Given the description of an element on the screen output the (x, y) to click on. 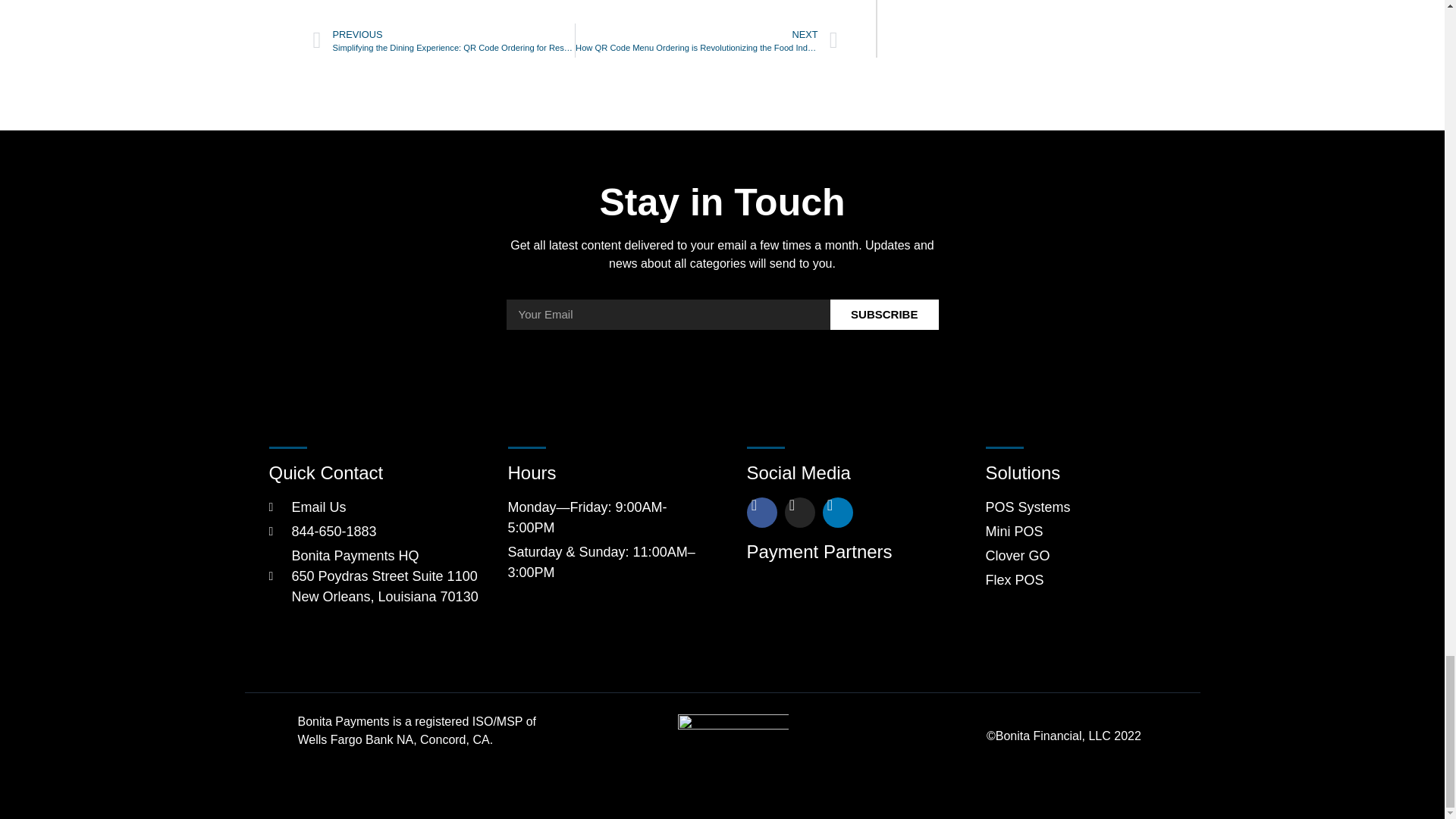
SUBSCRIBE (722, 314)
Social Media (840, 473)
Quick Contact (375, 473)
Solutions (1080, 473)
Payment Partners (840, 551)
Stay in Touch (575, 4)
Hours (722, 202)
